Given the description of an element on the screen output the (x, y) to click on. 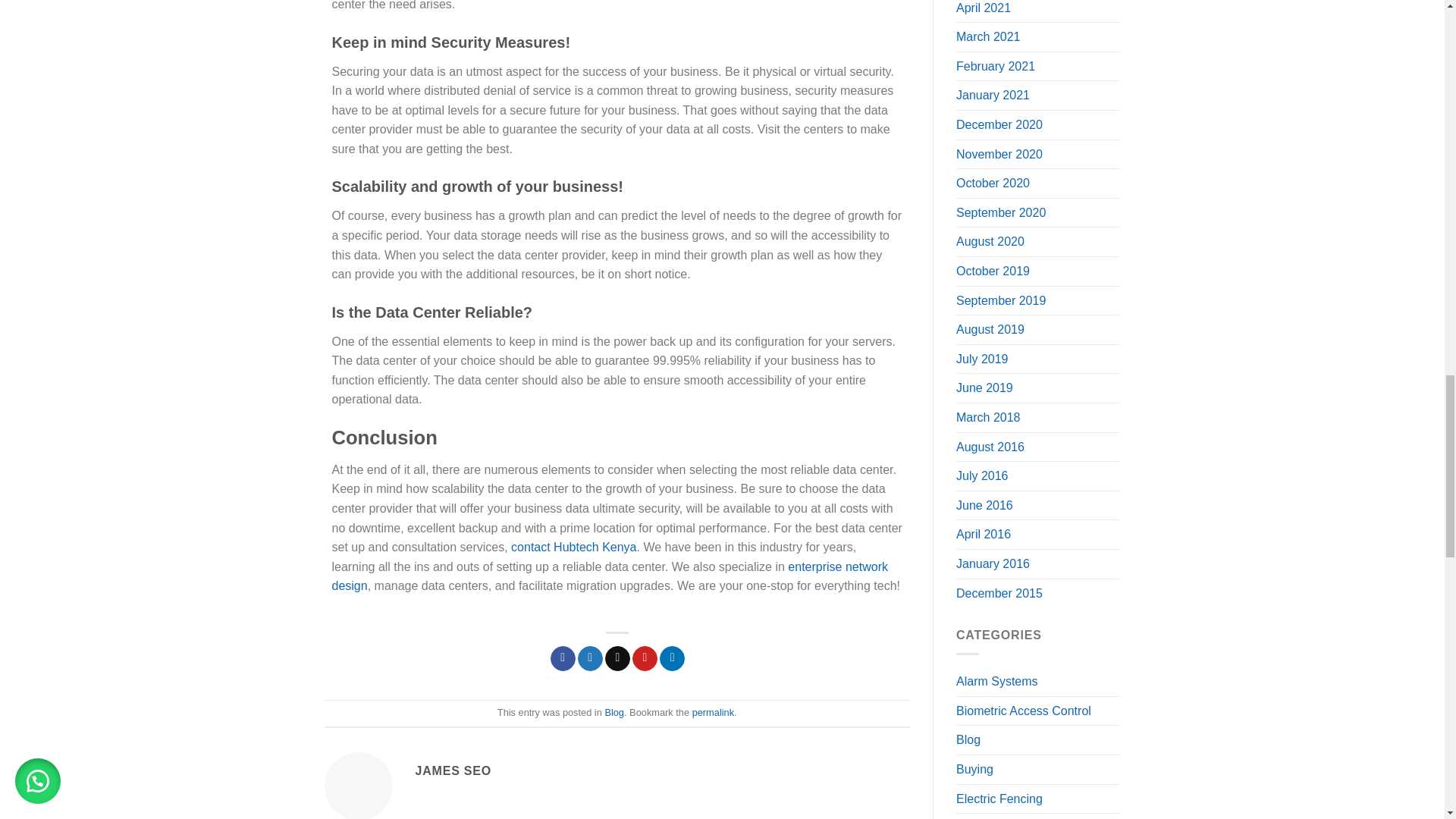
Share on Twitter (590, 658)
Pin on Pinterest (644, 658)
Email to a Friend (617, 658)
Share on LinkedIn (671, 658)
Share on Facebook (562, 658)
